Given the description of an element on the screen output the (x, y) to click on. 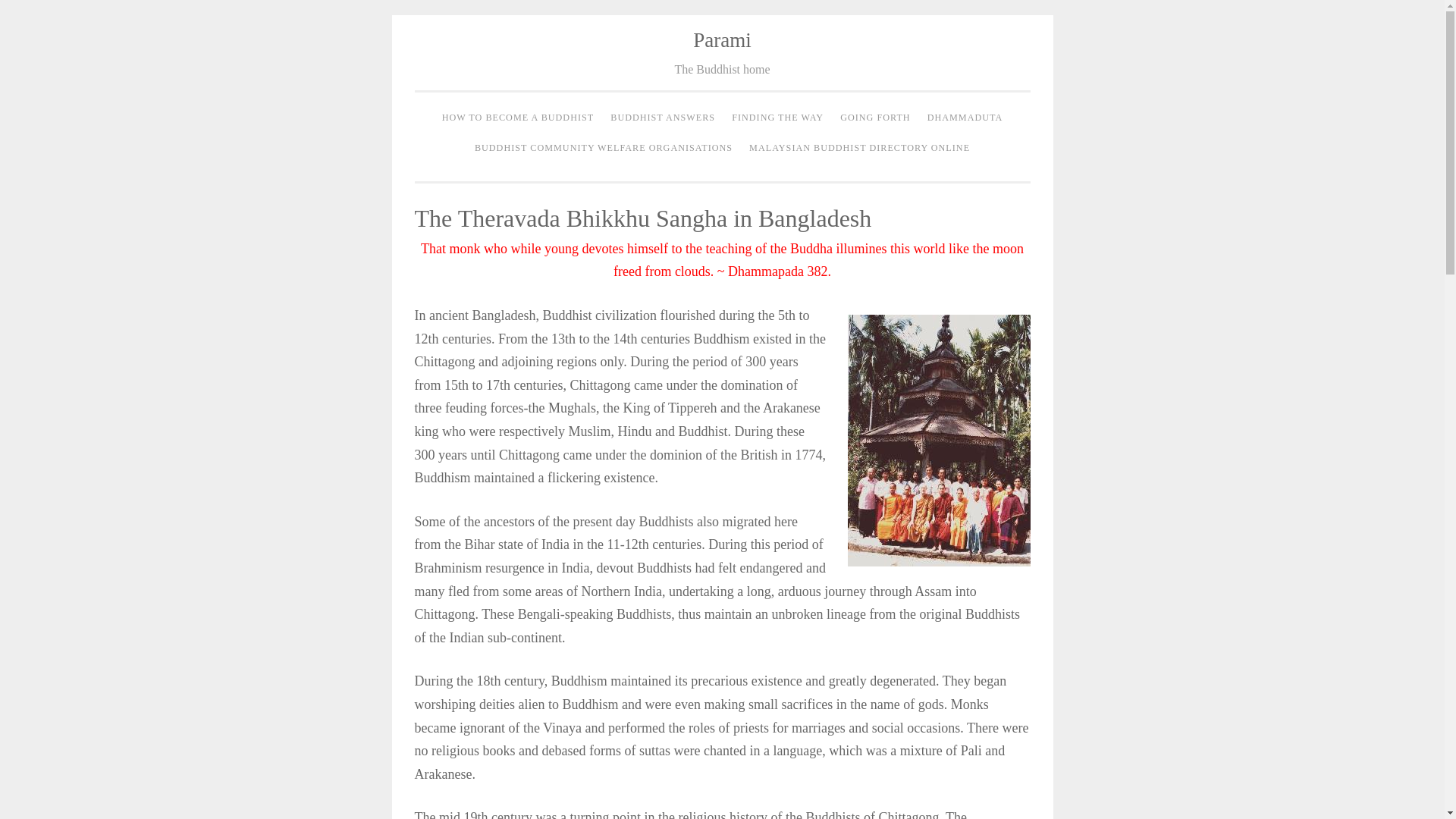
BUDDHIST ANSWERS (663, 118)
GOING FORTH (874, 118)
FINDING THE WAY (777, 118)
HOW TO BECOME A BUDDHIST (518, 118)
Parami (722, 39)
BUDDHIST COMMUNITY WELFARE ORGANISATIONS (603, 148)
MALAYSIAN BUDDHIST DIRECTORY ONLINE (859, 148)
Malaysian Buddhist organisations (859, 148)
